Given the description of an element on the screen output the (x, y) to click on. 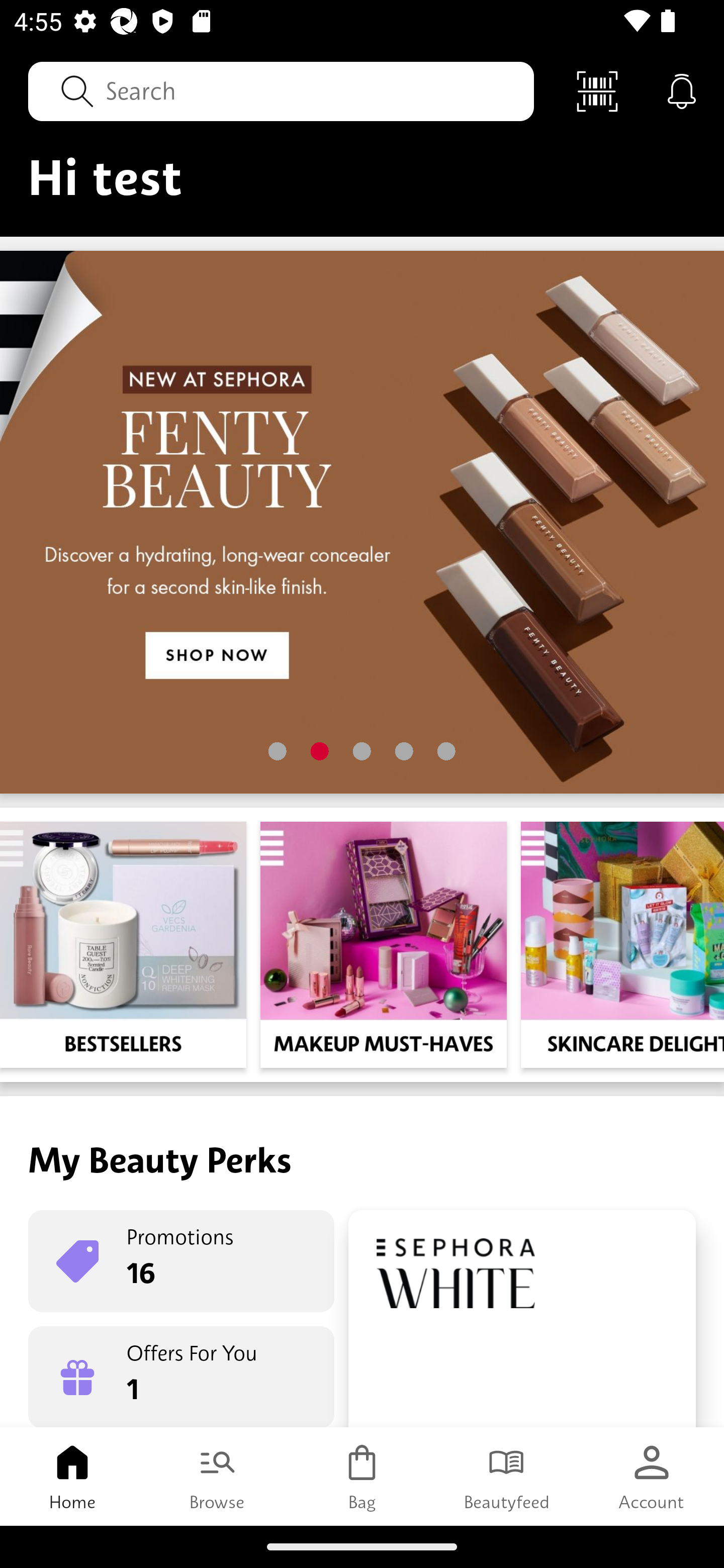
Scan Code (597, 90)
Notifications (681, 90)
Search (281, 90)
Promotions 16 (181, 1261)
Rewards Boutique 90 Pts (521, 1318)
Offers For You 1 (181, 1376)
Browse (216, 1475)
Bag (361, 1475)
Beautyfeed (506, 1475)
Account (651, 1475)
